Given the description of an element on the screen output the (x, y) to click on. 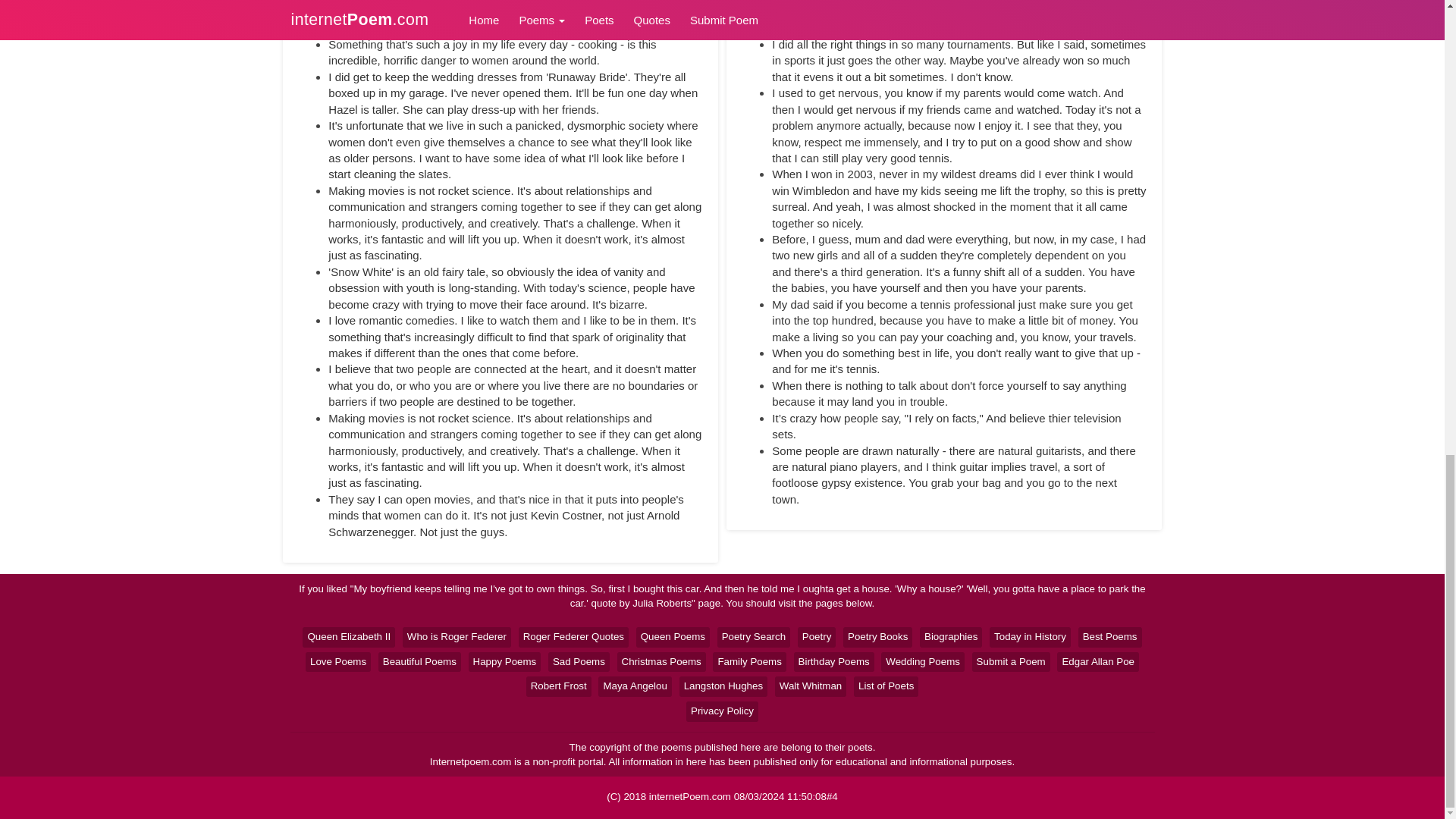
Queen Poems (673, 637)
Quotes by Roger Federer Quotes (573, 637)
